Given the description of an element on the screen output the (x, y) to click on. 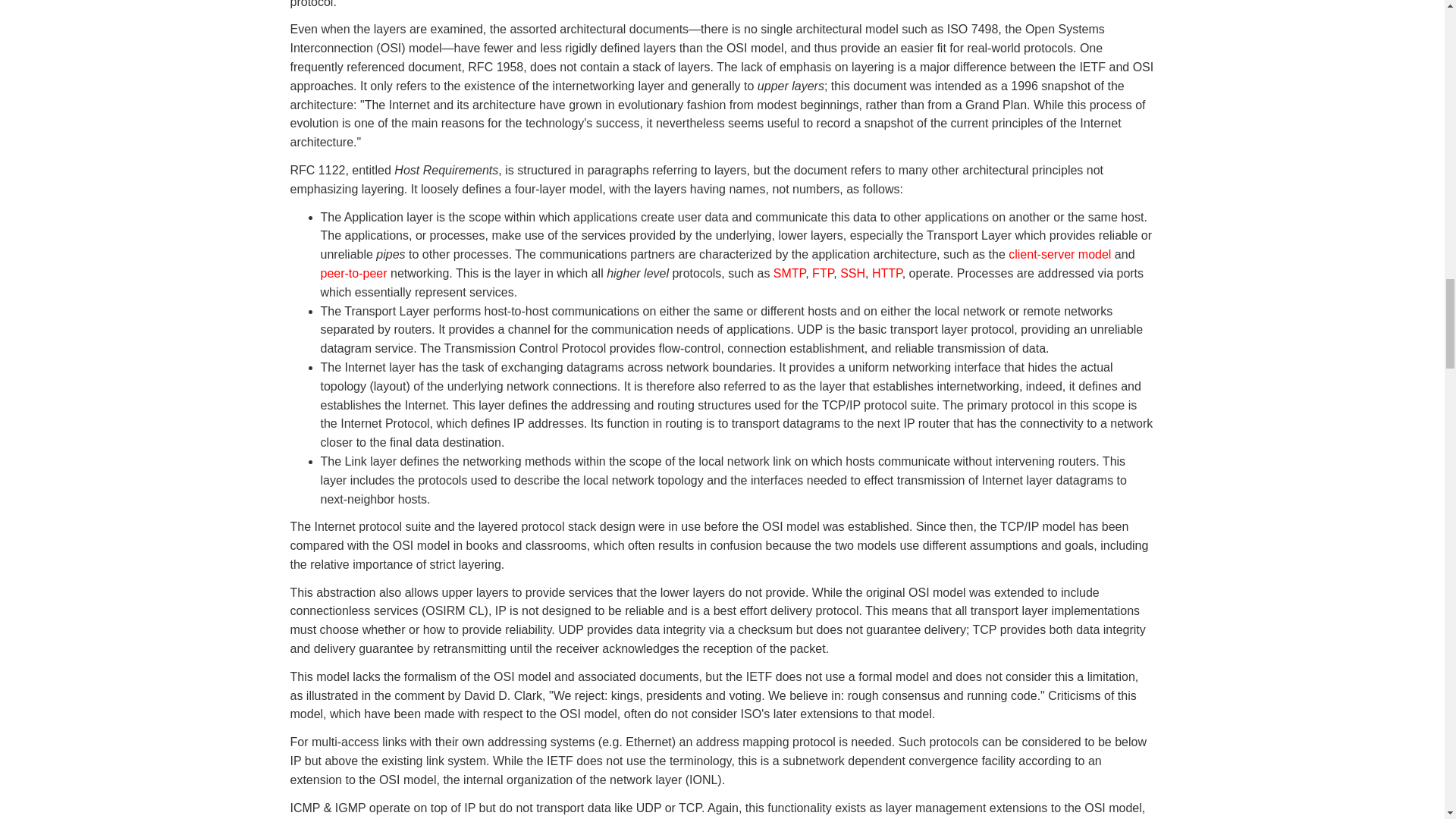
client-server model (1059, 254)
peer-to-peer (353, 273)
